Given the description of an element on the screen output the (x, y) to click on. 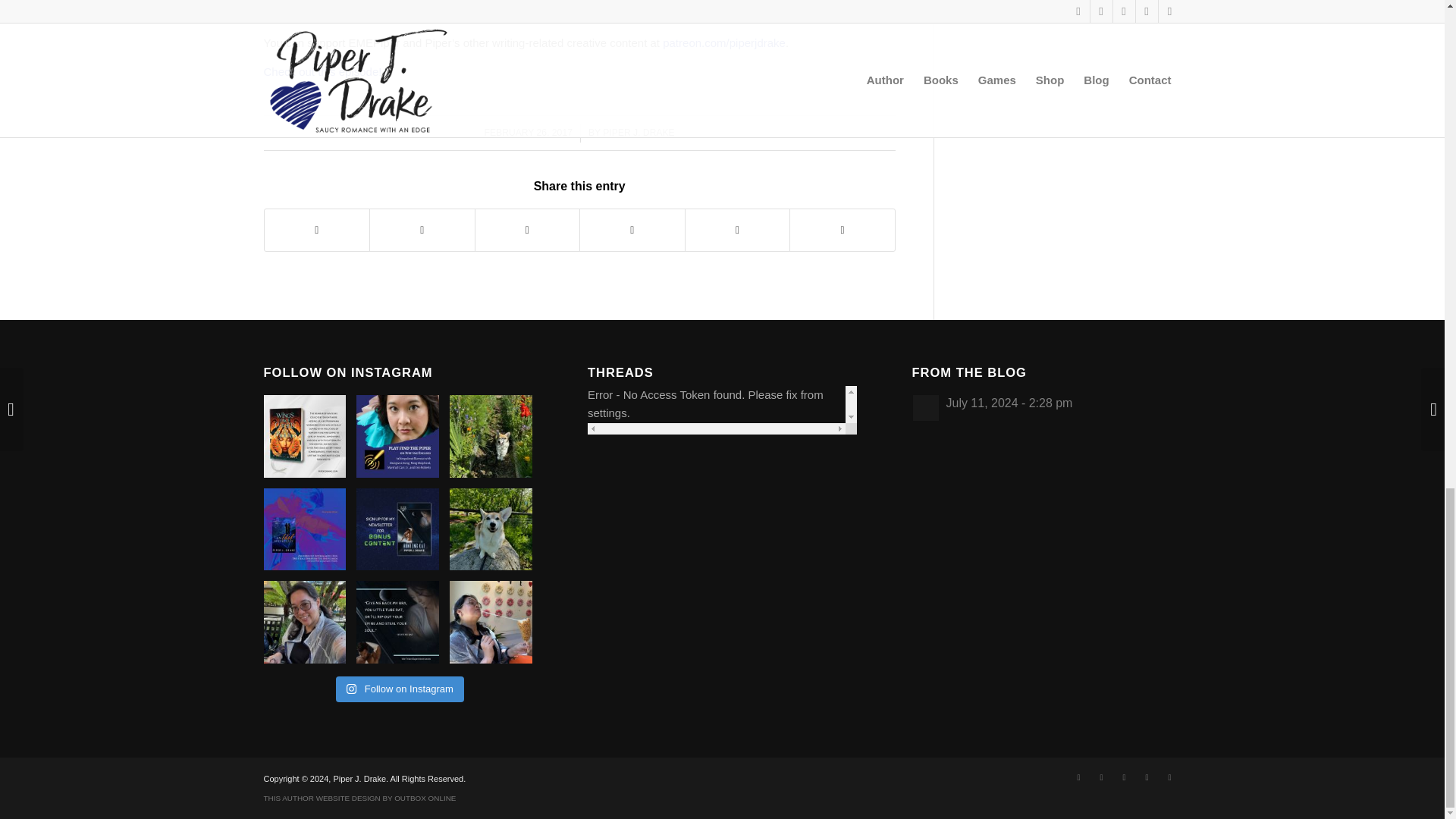
Deep Work: Rules for Focused Success in a Distracted World (436, 6)
Check out this episode! (322, 71)
PIPER J. DRAKE (638, 132)
Posts by Piper J. Drake (638, 132)
